Given the description of an element on the screen output the (x, y) to click on. 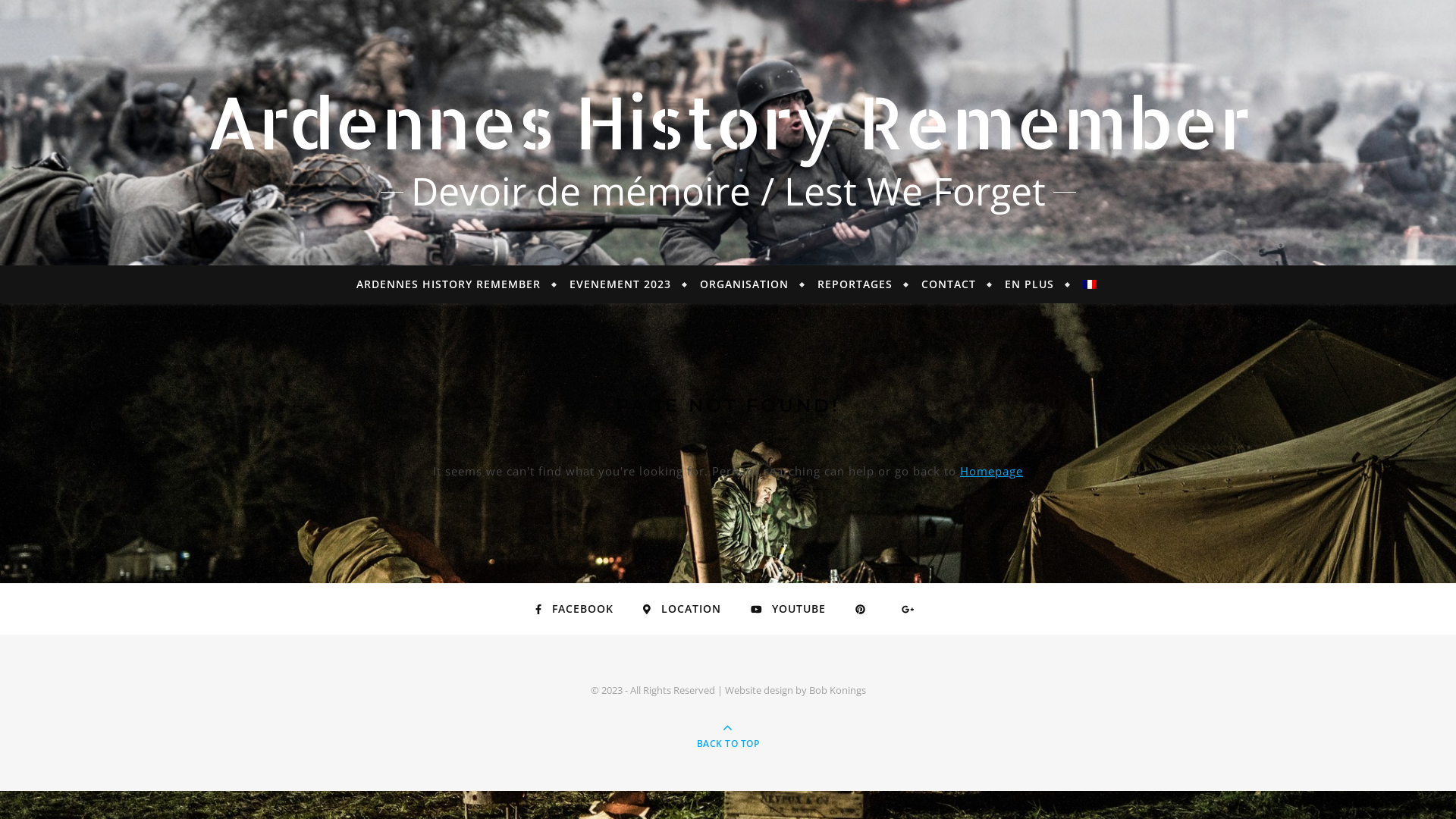
EN PLUS Element type: text (1028, 284)
LOCATION Element type: text (682, 608)
ORGANISATION Element type: text (744, 284)
FACEBOOK Element type: text (574, 608)
EVENEMENT 2023 Element type: text (620, 284)
CONTACT Element type: text (948, 284)
YOUTUBE Element type: text (788, 608)
Homepage Element type: text (991, 470)
Ardennes History Remember Element type: text (727, 121)
REPORTAGES Element type: text (854, 284)
ARDENNES HISTORY REMEMBER Element type: text (454, 284)
